Given the description of an element on the screen output the (x, y) to click on. 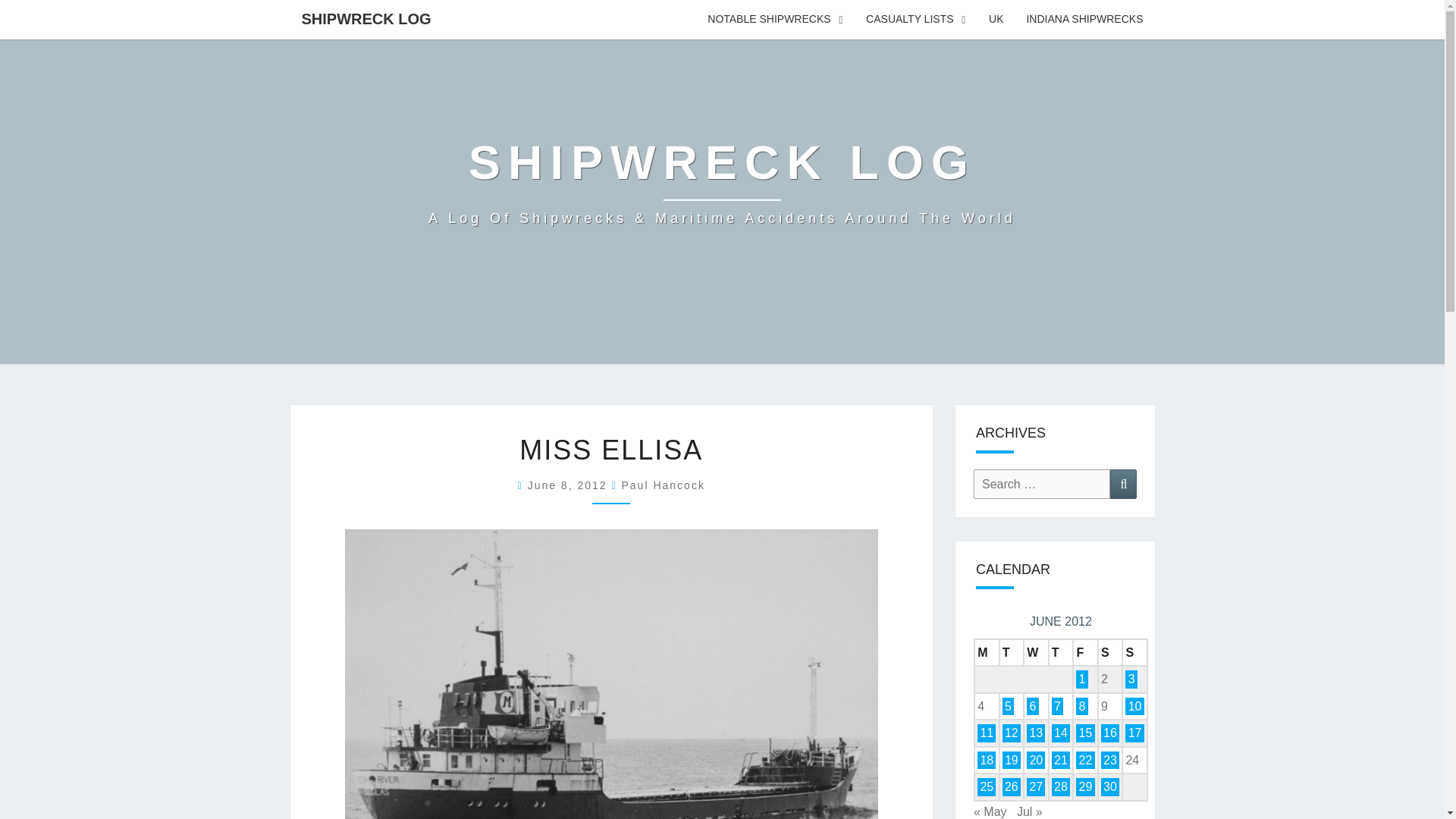
10:02 am (569, 485)
INDIANA SHIPWRECKS (1084, 19)
CASUALTY LISTS (915, 19)
View all posts by Paul Hancock (662, 485)
June 8, 2012 (569, 485)
SHIPWRECK LOG (365, 18)
Search for: (1041, 483)
NOTABLE SHIPWRECKS (774, 19)
Shipwreck Log (722, 182)
